Given the description of an element on the screen output the (x, y) to click on. 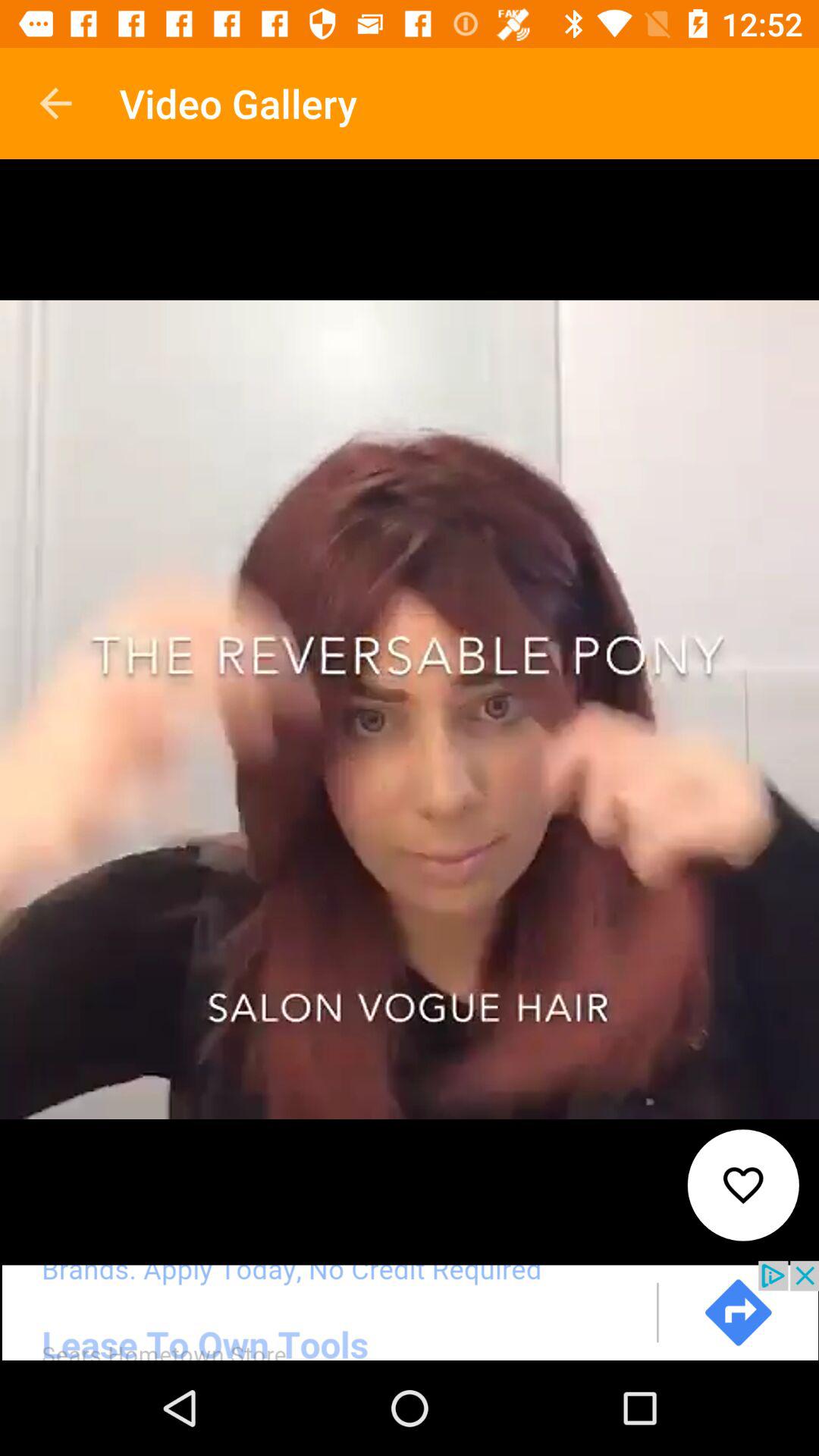
favourite (743, 1185)
